Given the description of an element on the screen output the (x, y) to click on. 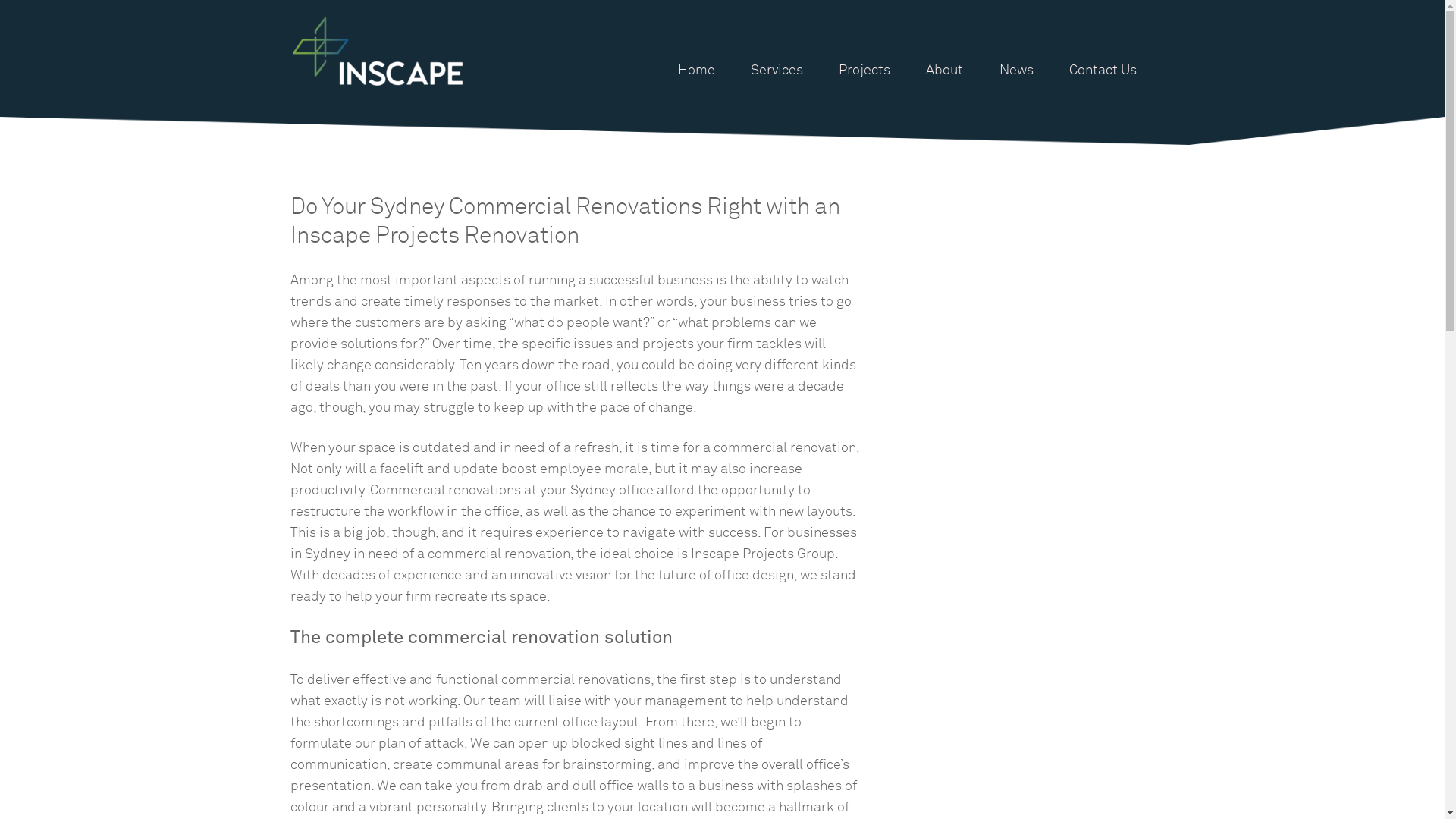
Projects Element type: text (863, 69)
Services Element type: text (776, 69)
Contact Us Element type: text (1102, 69)
About Element type: text (944, 69)
News Element type: text (1016, 69)
Home Element type: text (695, 69)
